Given the description of an element on the screen output the (x, y) to click on. 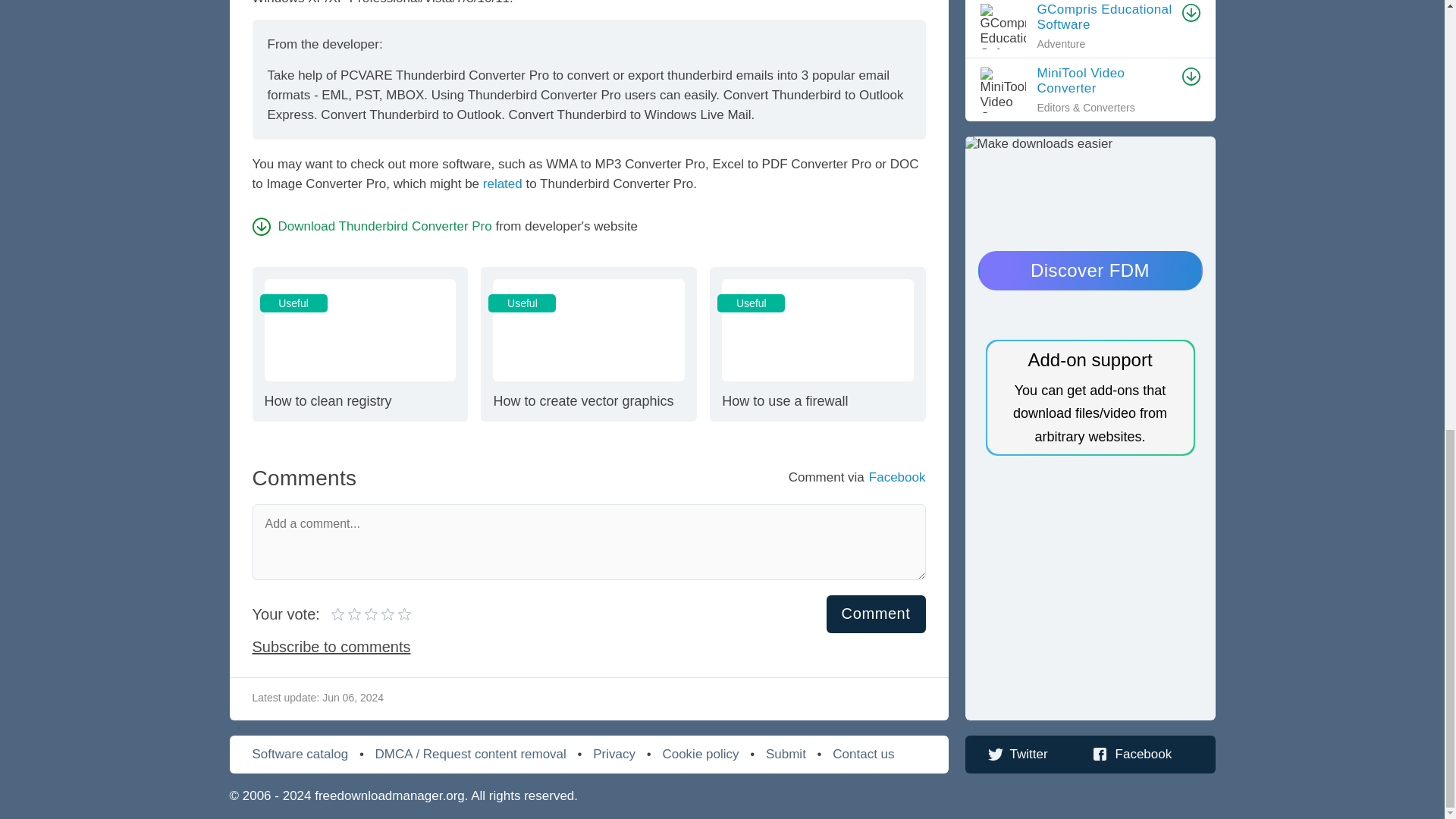
Download Thunderbird Converter Pro (359, 343)
3 (371, 226)
related (355, 613)
1 (817, 343)
5 (502, 183)
2 (587, 343)
Comment (338, 613)
